Given the description of an element on the screen output the (x, y) to click on. 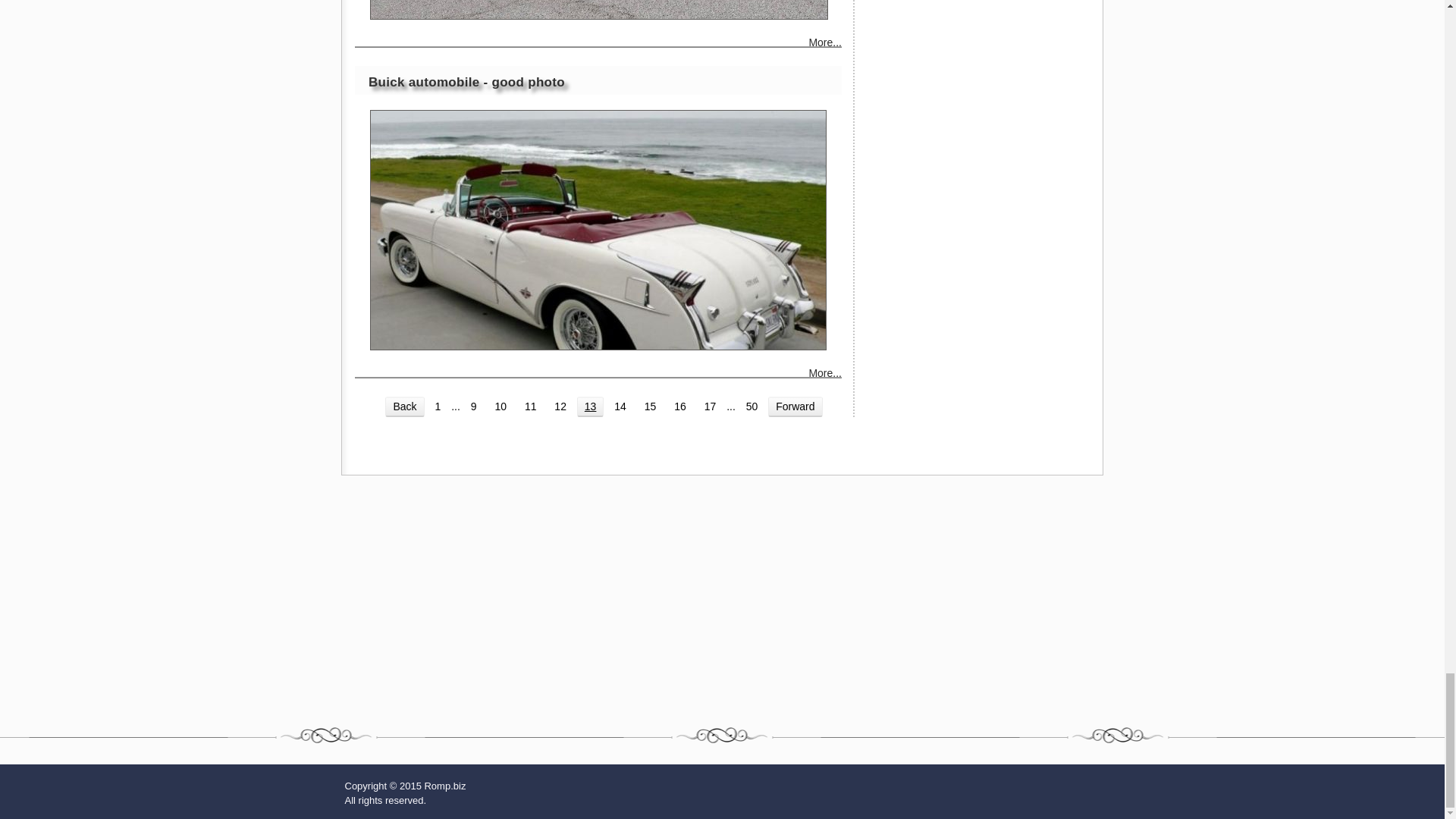
Buick auto - cute photo (598, 9)
Buick automobile - good photo (598, 229)
